Given the description of an element on the screen output the (x, y) to click on. 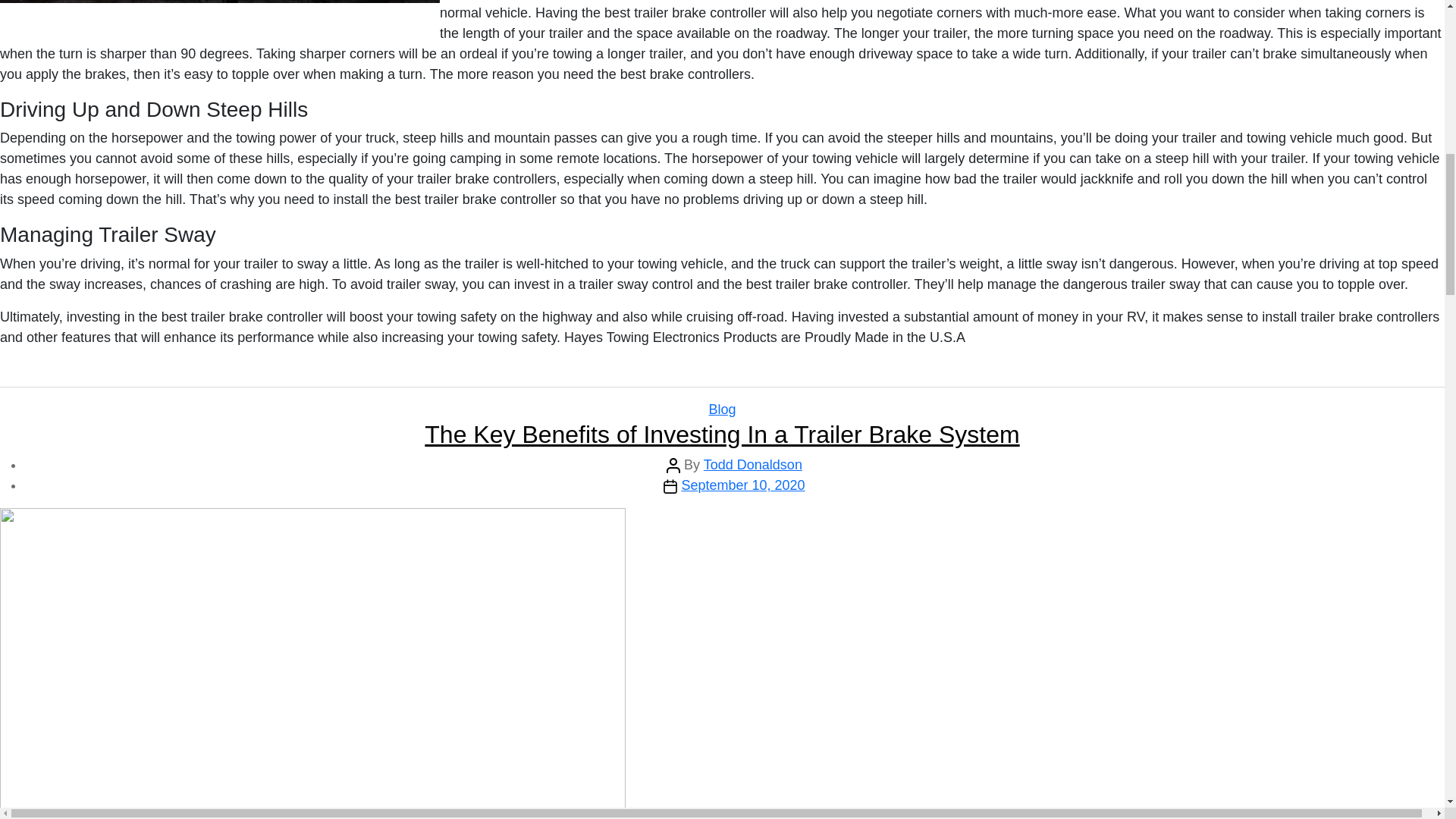
Todd Donaldson (752, 464)
Blog (721, 409)
The Key Benefits of Investing In a Trailer Brake System (722, 433)
September 10, 2020 (743, 485)
